Given the description of an element on the screen output the (x, y) to click on. 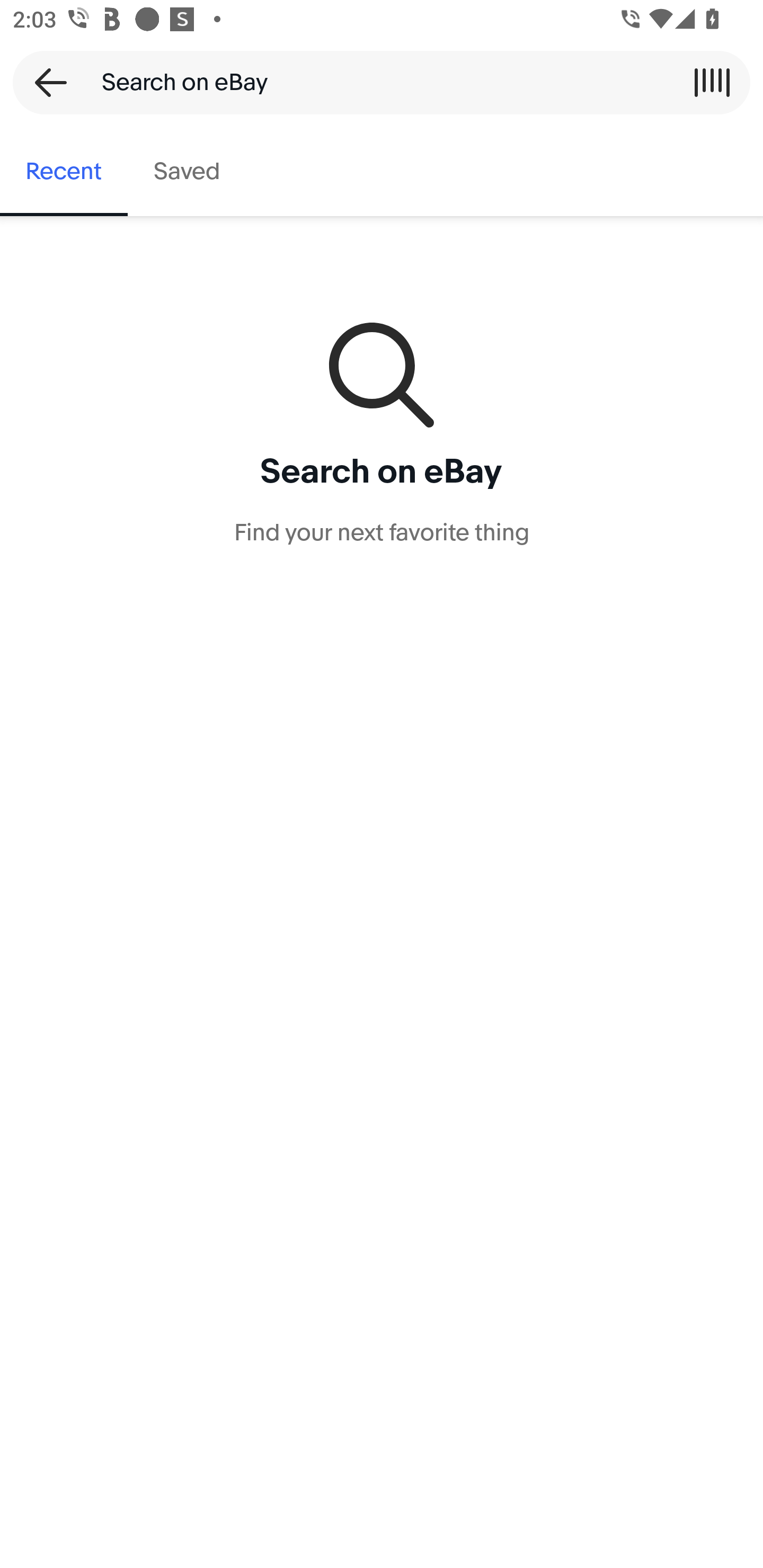
Back (44, 82)
Scan a barcode (711, 82)
Search on eBay (375, 82)
Saved, tab 2 of 2 Saved (186, 171)
